Given the description of an element on the screen output the (x, y) to click on. 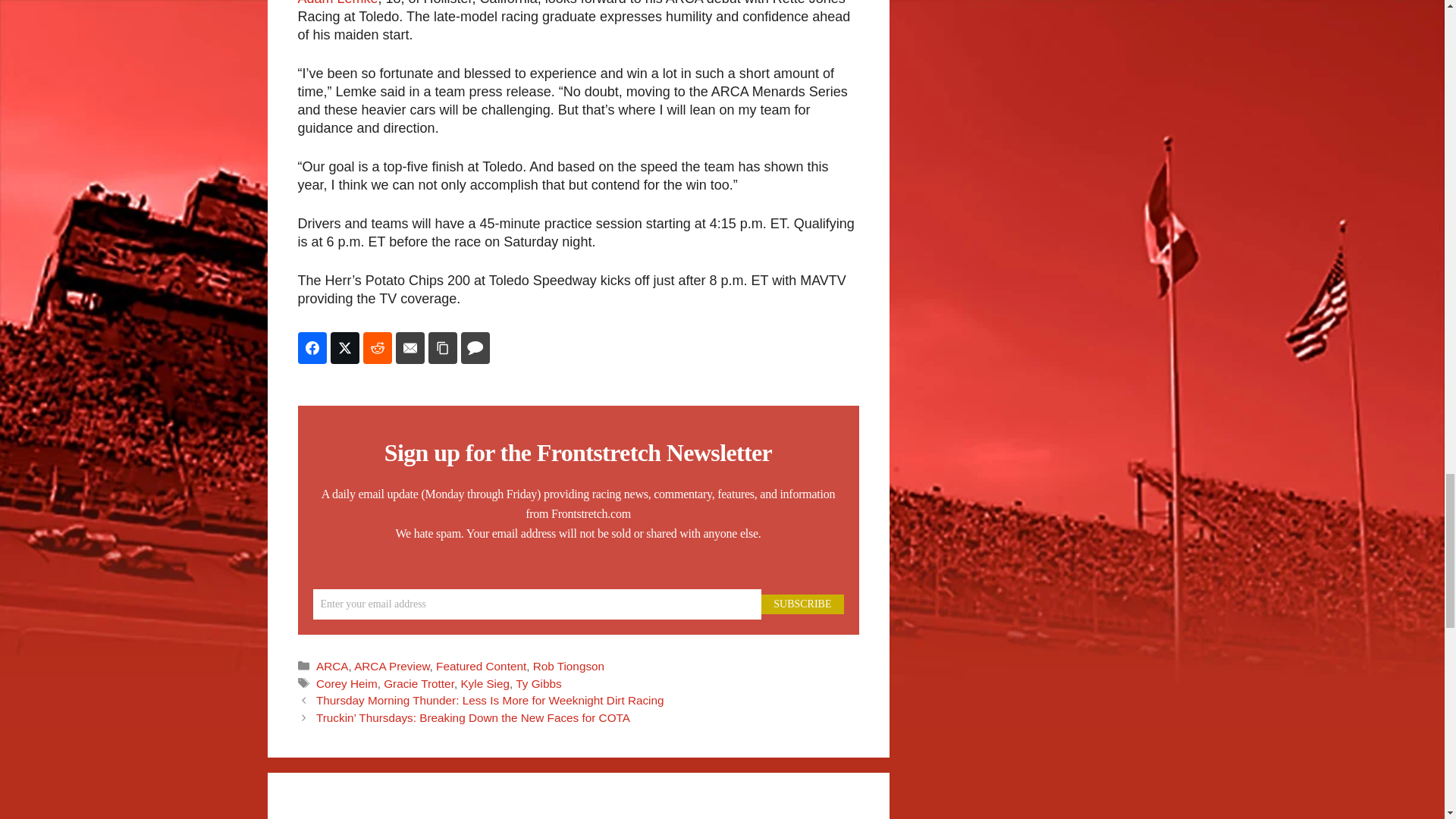
Kyle Sieg (484, 682)
Adam Lemke (337, 2)
Featured Content (480, 666)
Share on Copy Link (442, 347)
Share on Comments (475, 347)
Share on Email (410, 347)
Share on Facebook (311, 347)
SUBSCRIBE (802, 604)
ARCA (332, 666)
ARCA Preview (391, 666)
Rob Tiongson (568, 666)
Share on Twitter (344, 347)
Gracie Trotter (419, 682)
Share on Reddit (376, 347)
Corey Heim (346, 682)
